Given the description of an element on the screen output the (x, y) to click on. 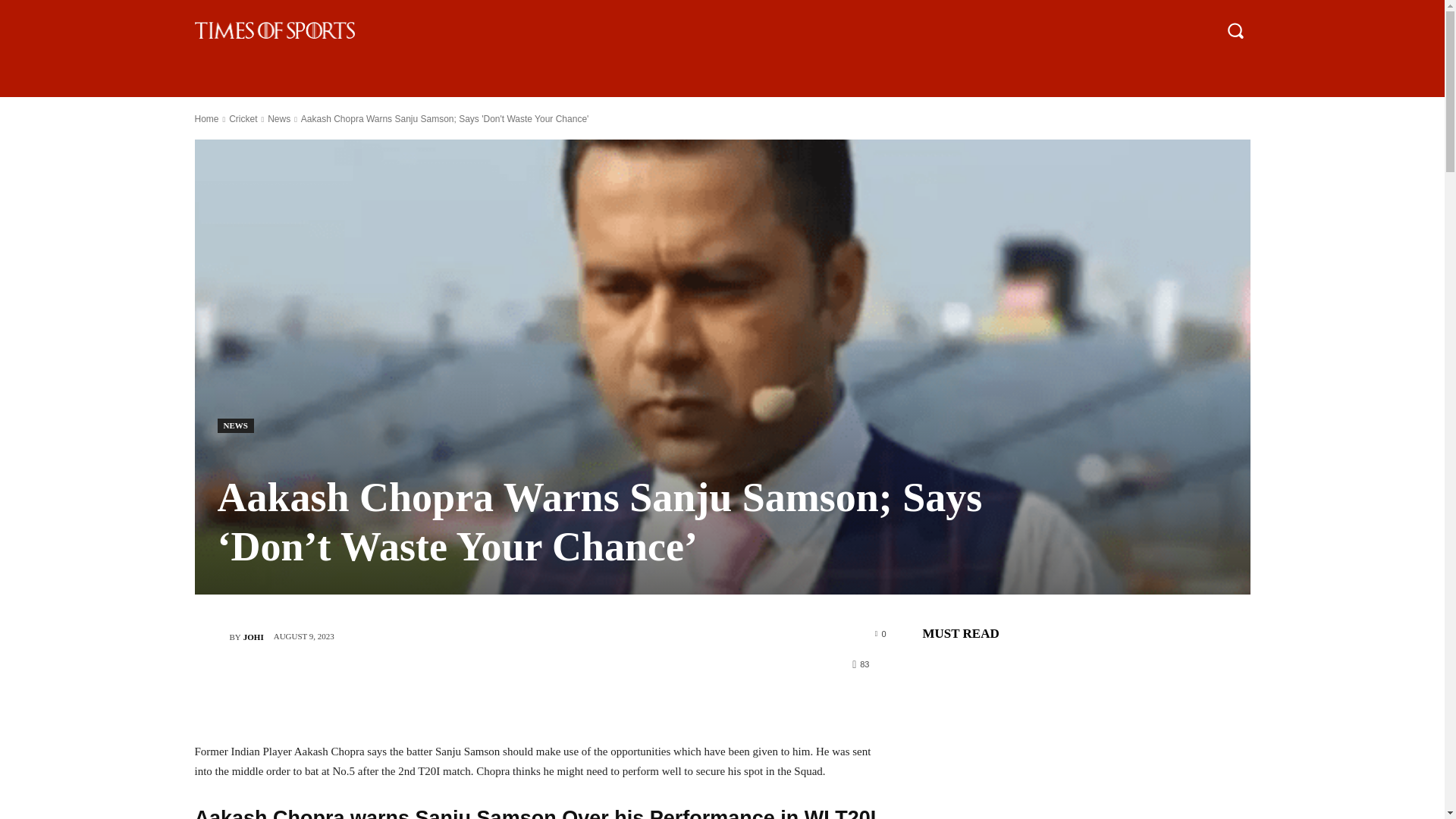
Johi (210, 636)
View all posts in News (278, 118)
View all posts in Cricket (242, 118)
